Given the description of an element on the screen output the (x, y) to click on. 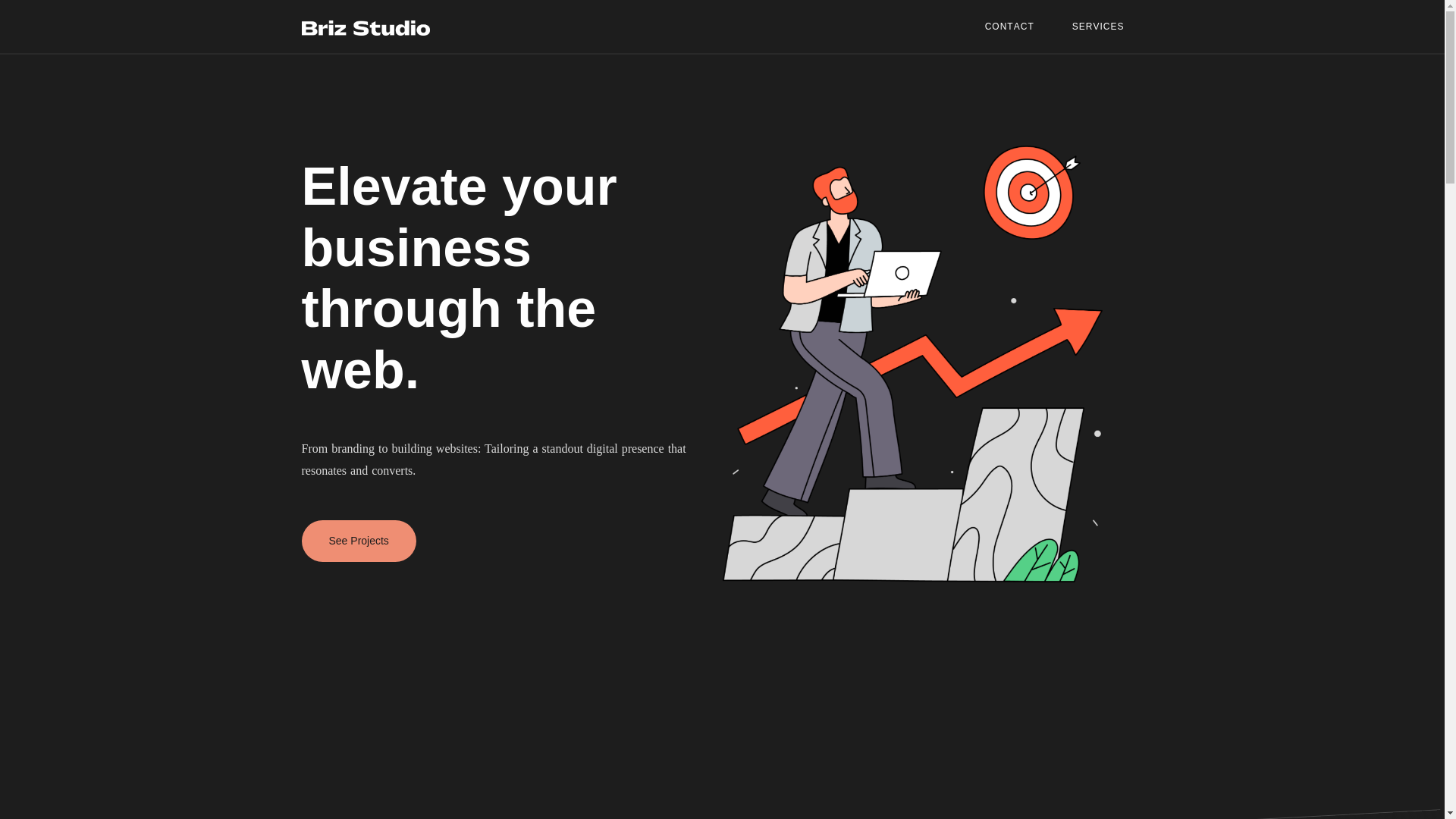
SERVICES (1097, 26)
See Projects (358, 759)
CONTACT (1009, 26)
